Given the description of an element on the screen output the (x, y) to click on. 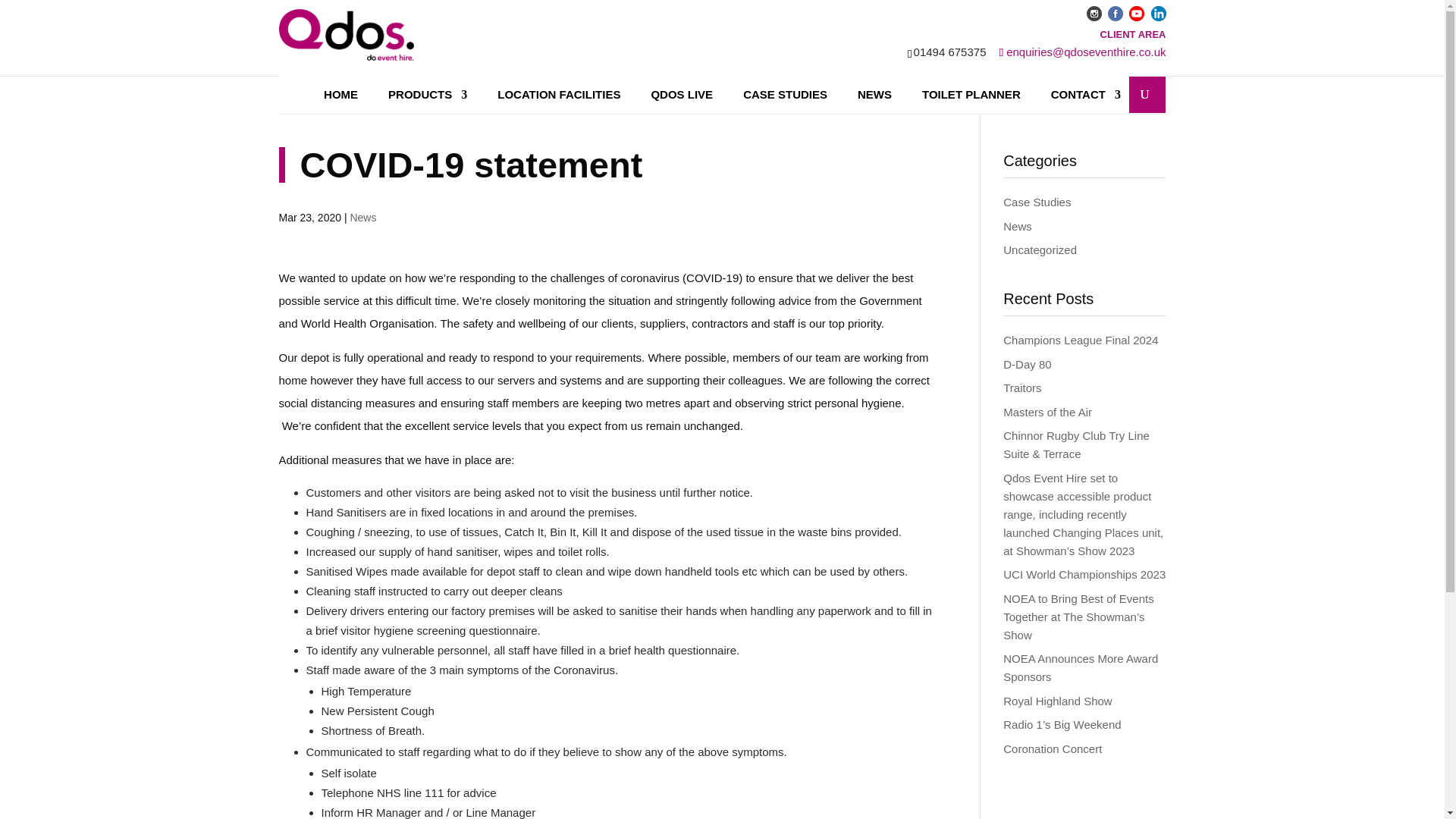
CLIENT AREA (1133, 34)
HOME (340, 94)
PRODUCTS (427, 94)
